Given the description of an element on the screen output the (x, y) to click on. 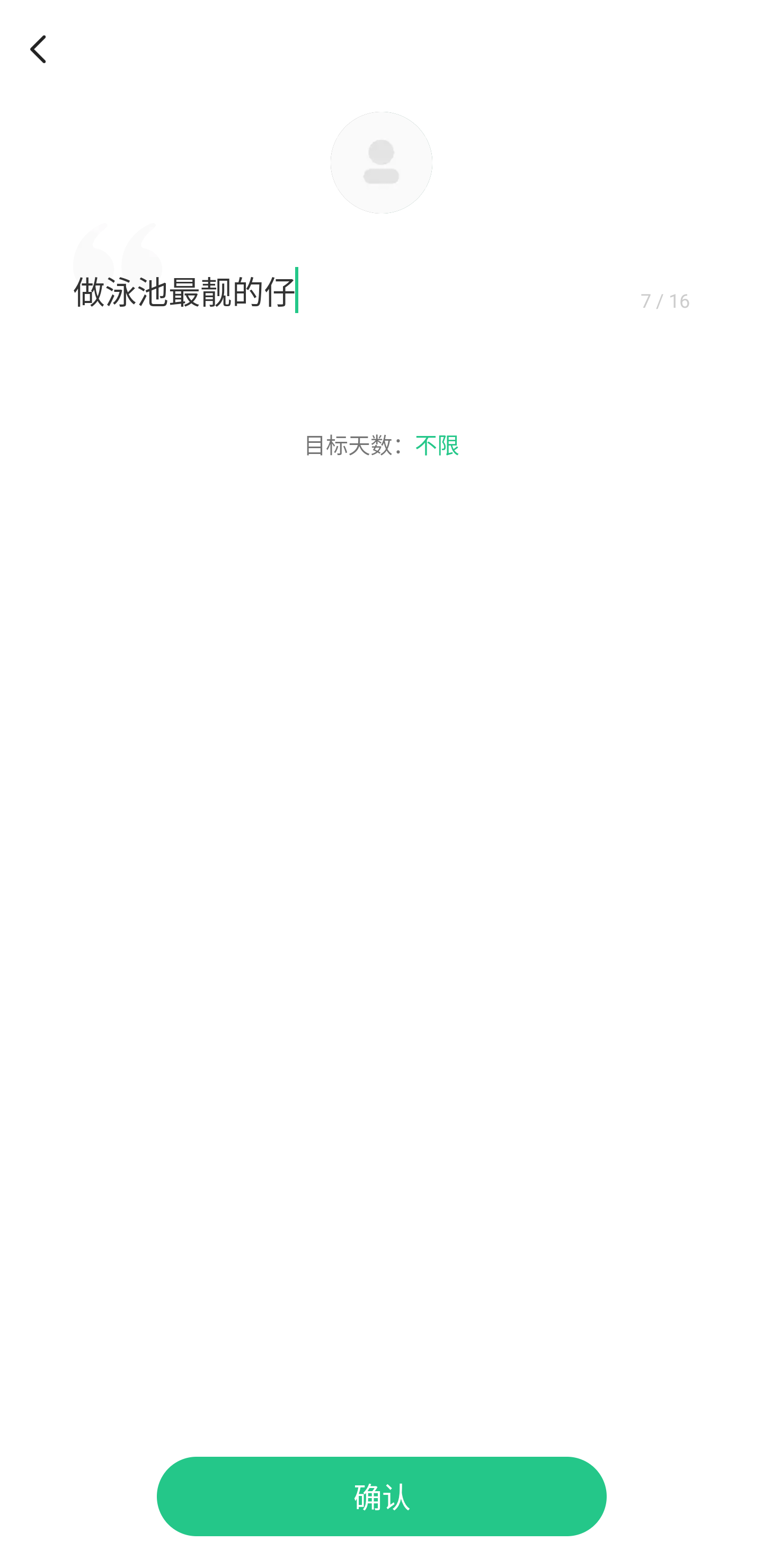
做泳池最靓的仔 (353, 289)
不限 (437, 444)
确认 (381, 1496)
